Given the description of an element on the screen output the (x, y) to click on. 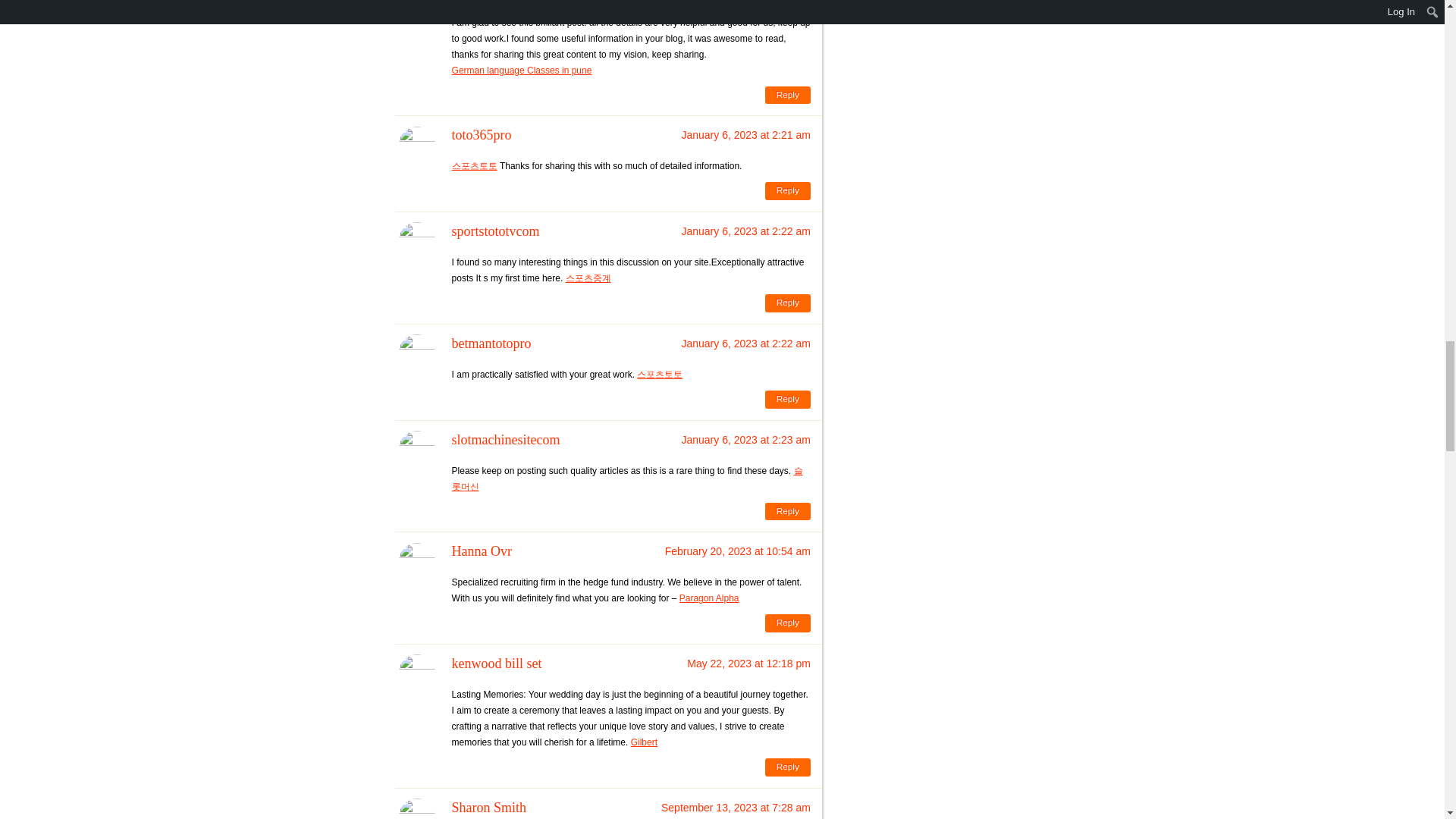
January 6, 2023 at 2:21 am (745, 134)
Reply (787, 511)
Reply (787, 623)
January 6, 2023 at 2:22 am (745, 231)
February 20, 2023 at 10:54 am (737, 551)
May 22, 2023 at 12:18 pm (748, 663)
January 6, 2023 at 2:23 am (745, 439)
Reply (787, 95)
Reply (787, 399)
Paragon Alpha (709, 597)
